Given the description of an element on the screen output the (x, y) to click on. 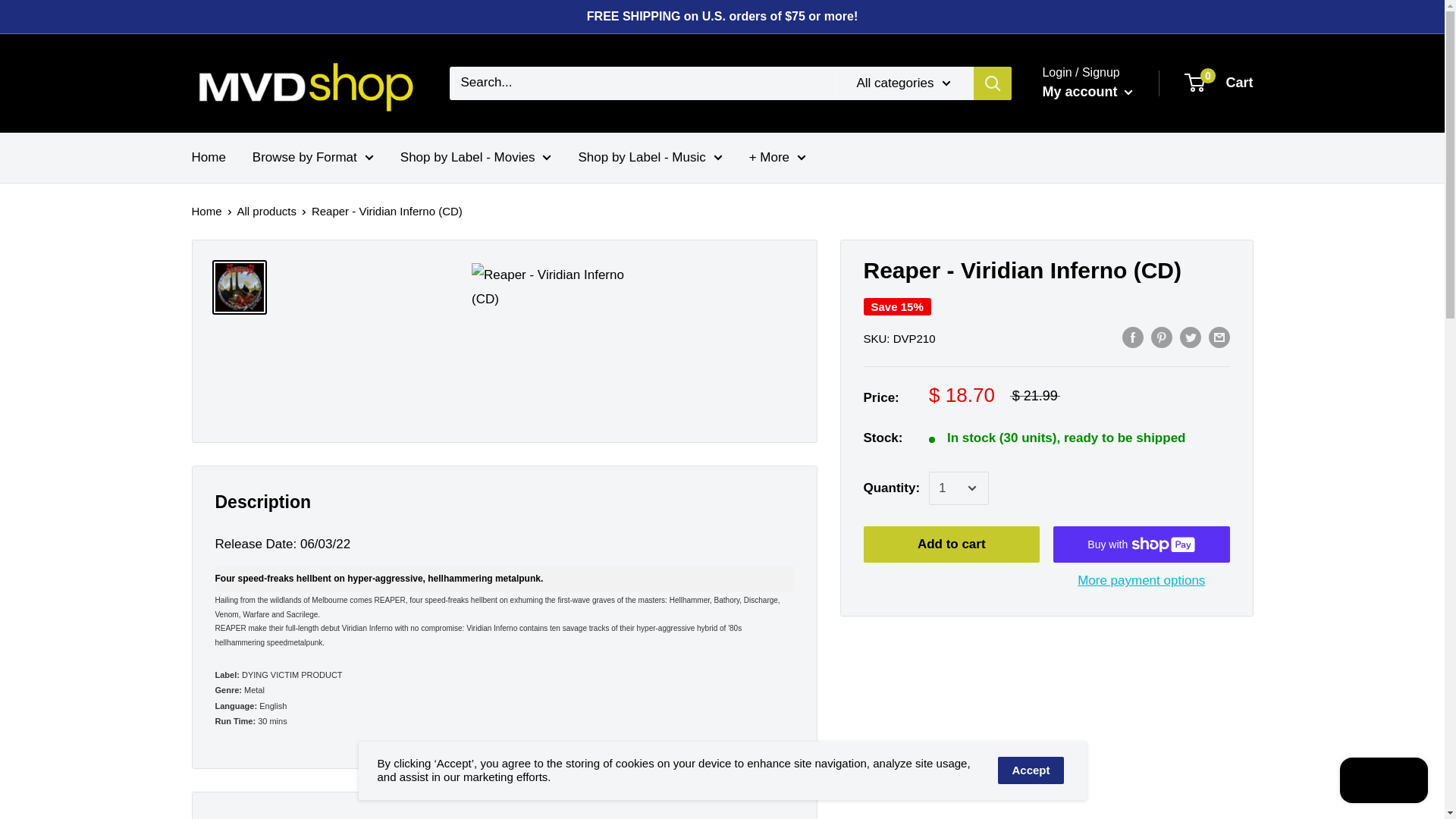
Shopify online store chat (1383, 781)
